Given the description of an element on the screen output the (x, y) to click on. 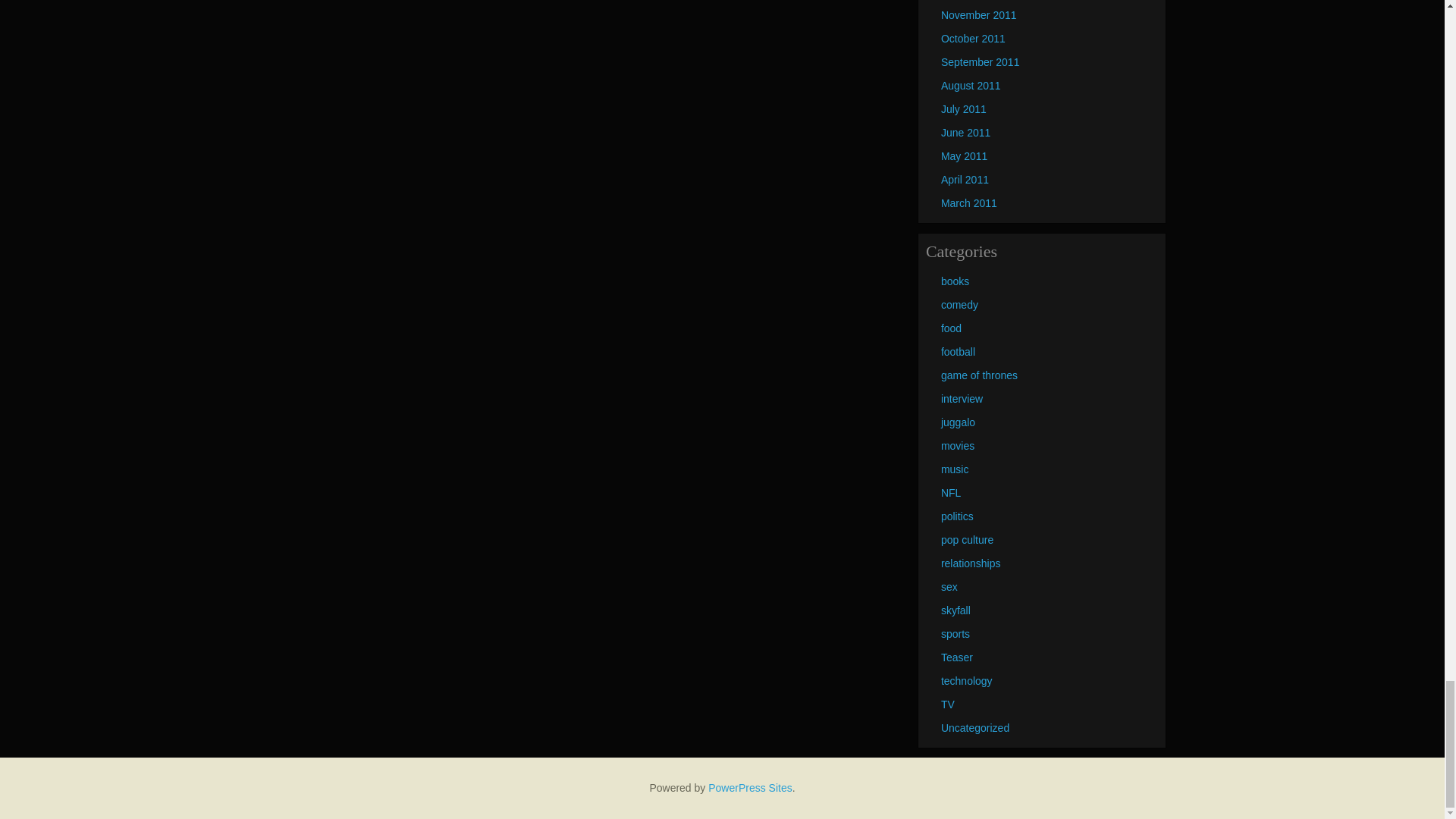
Managed WordPress Hosting for your audio and video website (749, 787)
